Given the description of an element on the screen output the (x, y) to click on. 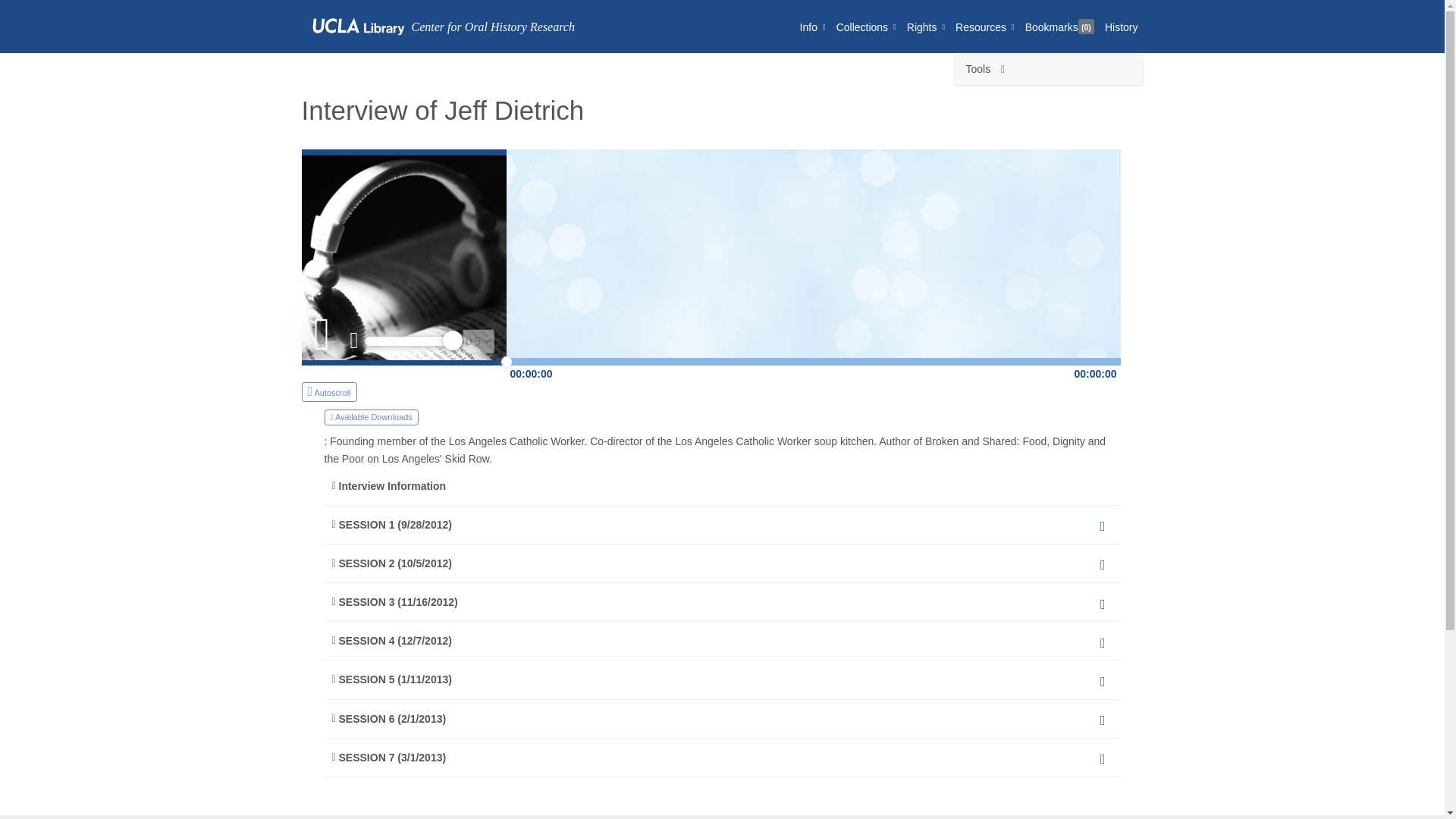
1 (412, 340)
 Autoscroll (328, 391)
Available Downloads (371, 417)
Resources (985, 25)
 Autoscroll (403, 391)
Interview Information (722, 485)
Center for Oral History Research (438, 25)
History (1120, 25)
Rights (925, 25)
Tools (1047, 70)
